Given the description of an element on the screen output the (x, y) to click on. 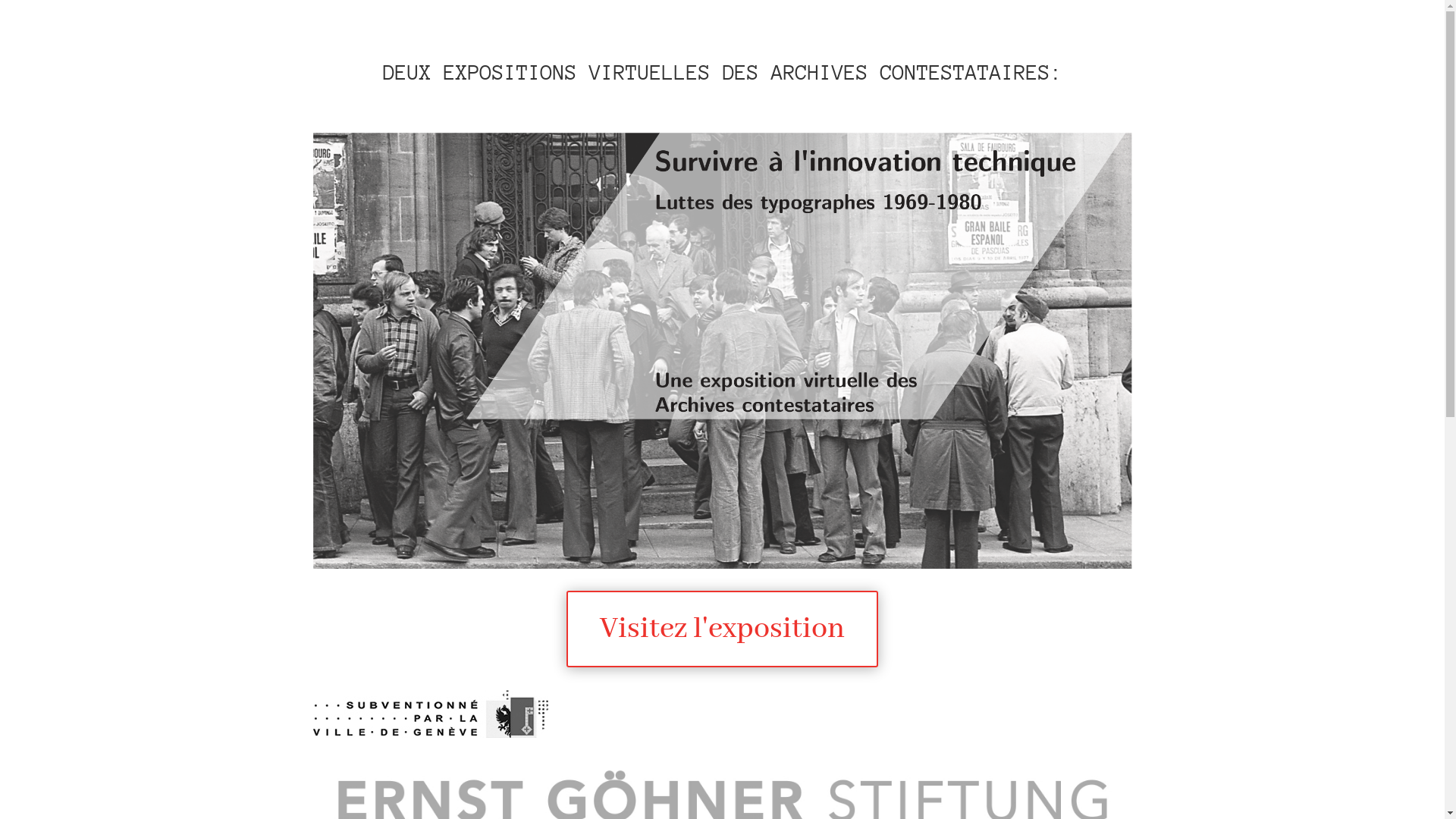
logo-subvention-ville-geneve-couleur Element type: hover (429, 713)
Visitez l'exposition Element type: text (722, 628)
carte_typos-page001 Element type: hover (721, 350)
